Given the description of an element on the screen output the (x, y) to click on. 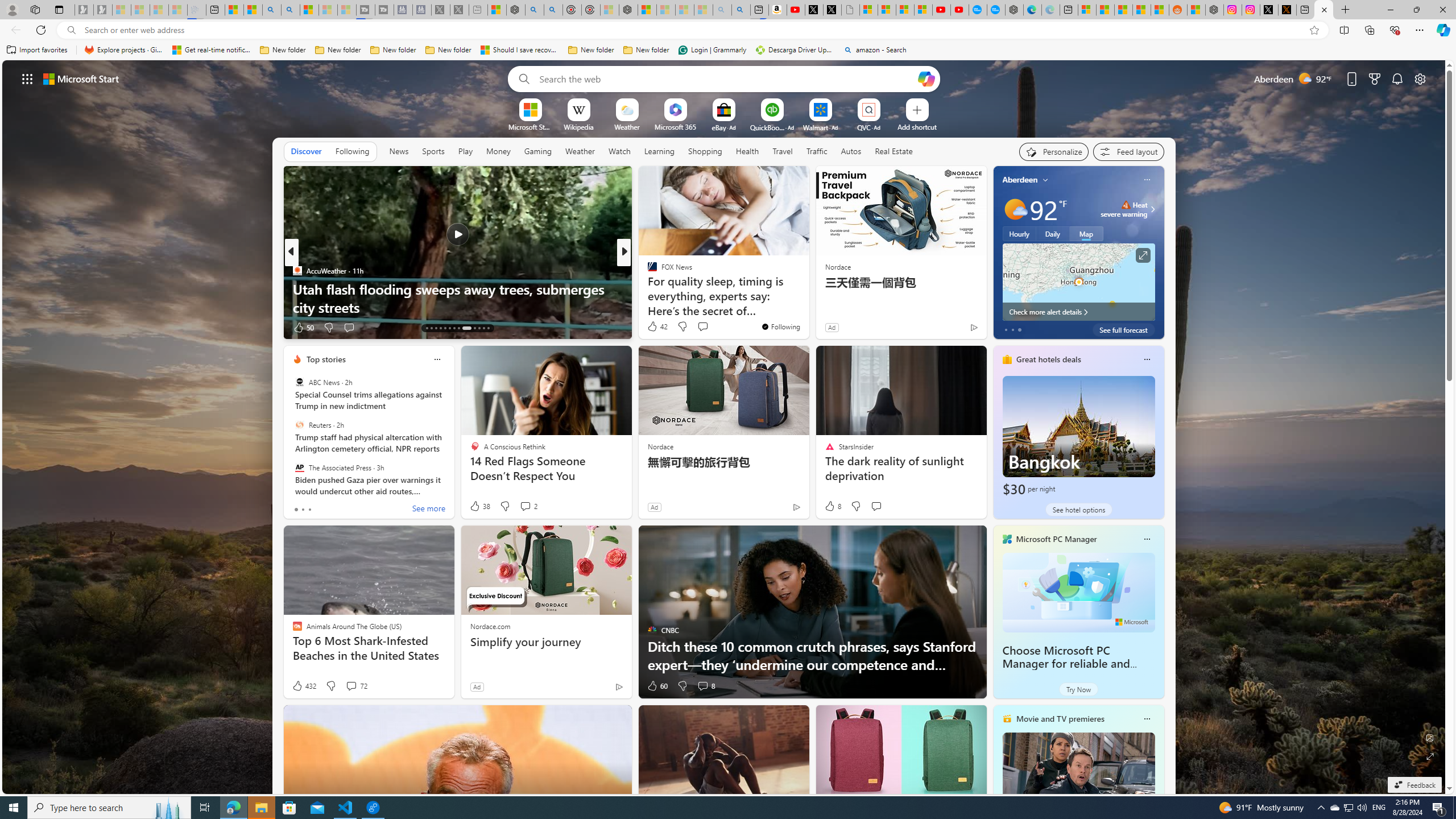
Microsoft account | Microsoft Account Privacy Settings (1086, 9)
X (831, 9)
Page settings (1420, 78)
View comments 3 Comment (6, 327)
42 Like (657, 326)
Gaming (537, 151)
Hourly (1018, 233)
AutomationID: tab-24 (483, 328)
Money (498, 151)
Travel (782, 151)
Larger map  (1077, 282)
Search icon (70, 29)
